Given the description of an element on the screen output the (x, y) to click on. 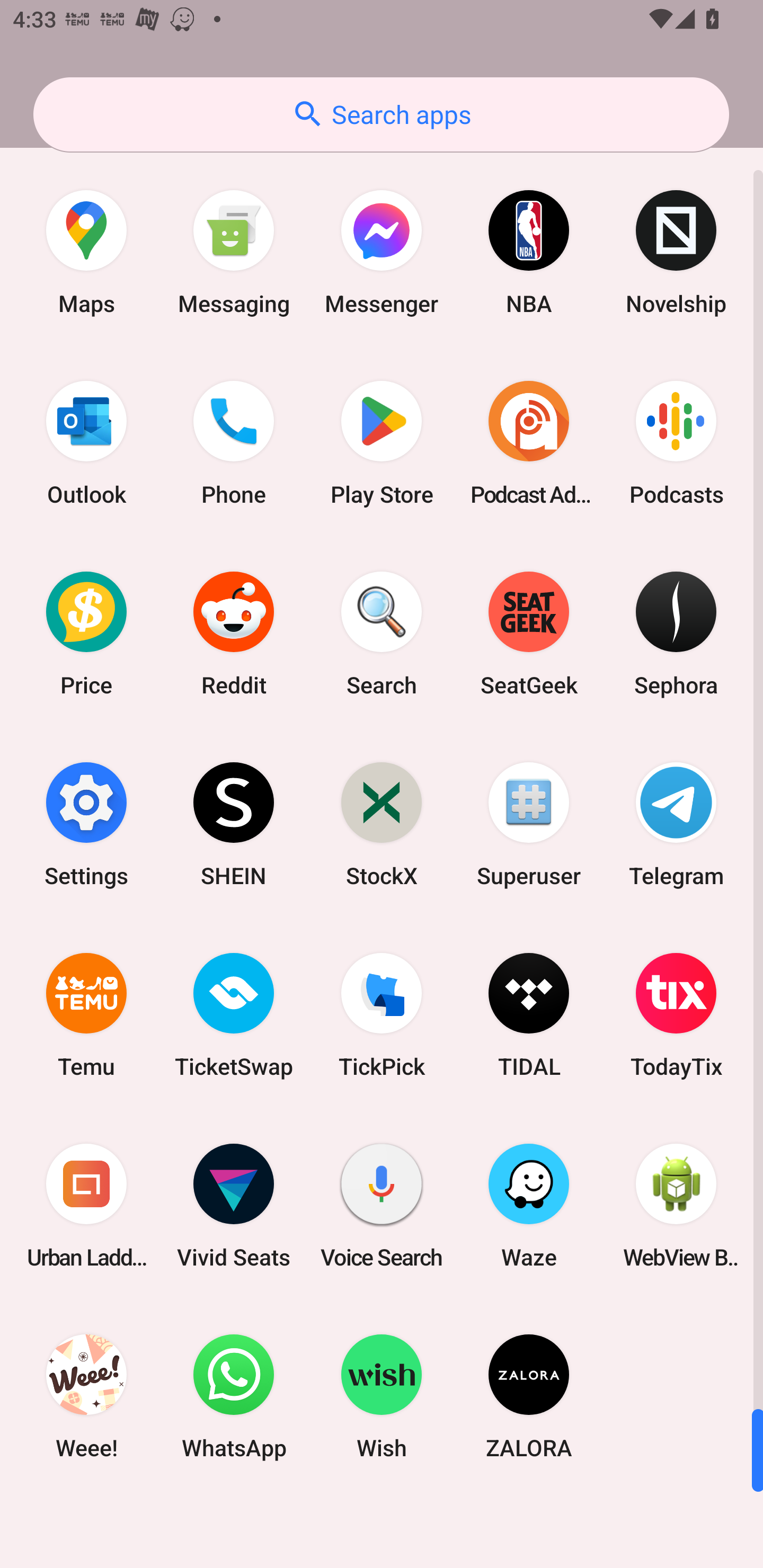
  Search apps (381, 114)
Maps (86, 252)
Messaging (233, 252)
Messenger (381, 252)
NBA (528, 252)
Novelship (676, 252)
Outlook (86, 442)
Phone (233, 442)
Play Store (381, 442)
Podcast Addict (528, 442)
Podcasts (676, 442)
Price (86, 633)
Reddit (233, 633)
Search (381, 633)
SeatGeek (528, 633)
Sephora (676, 633)
Settings (86, 823)
SHEIN (233, 823)
StockX (381, 823)
Superuser (528, 823)
Telegram (676, 823)
Temu (86, 1014)
TicketSwap (233, 1014)
TickPick (381, 1014)
TIDAL (528, 1014)
TodayTix (676, 1014)
Urban Ladder (86, 1205)
Vivid Seats (233, 1205)
Voice Search (381, 1205)
Waze (528, 1205)
WebView Browser Tester (676, 1205)
Weee! (86, 1396)
WhatsApp (233, 1396)
Wish (381, 1396)
ZALORA (528, 1396)
